Given the description of an element on the screen output the (x, y) to click on. 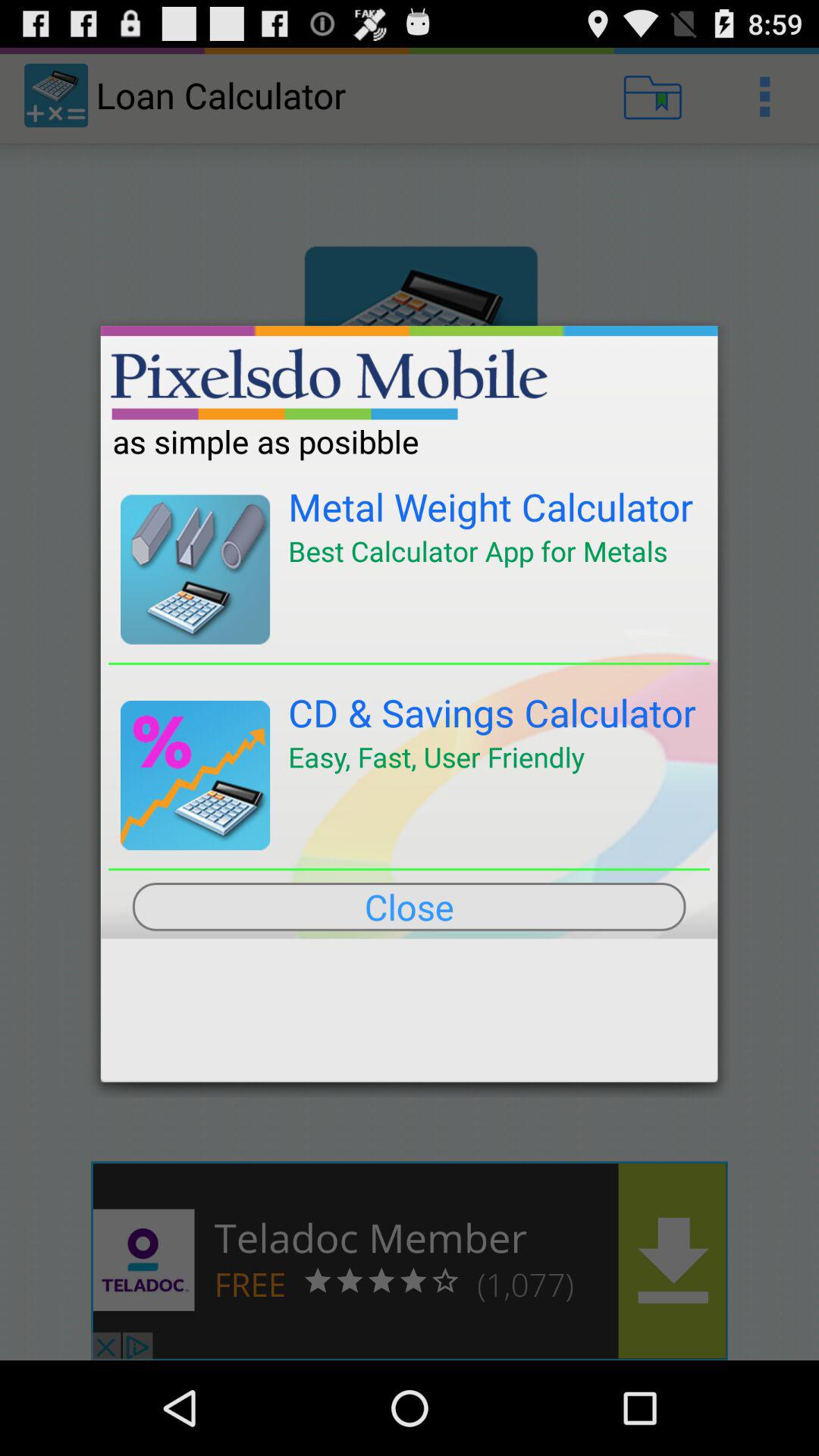
tap the item above easy fast user item (492, 712)
